Given the description of an element on the screen output the (x, y) to click on. 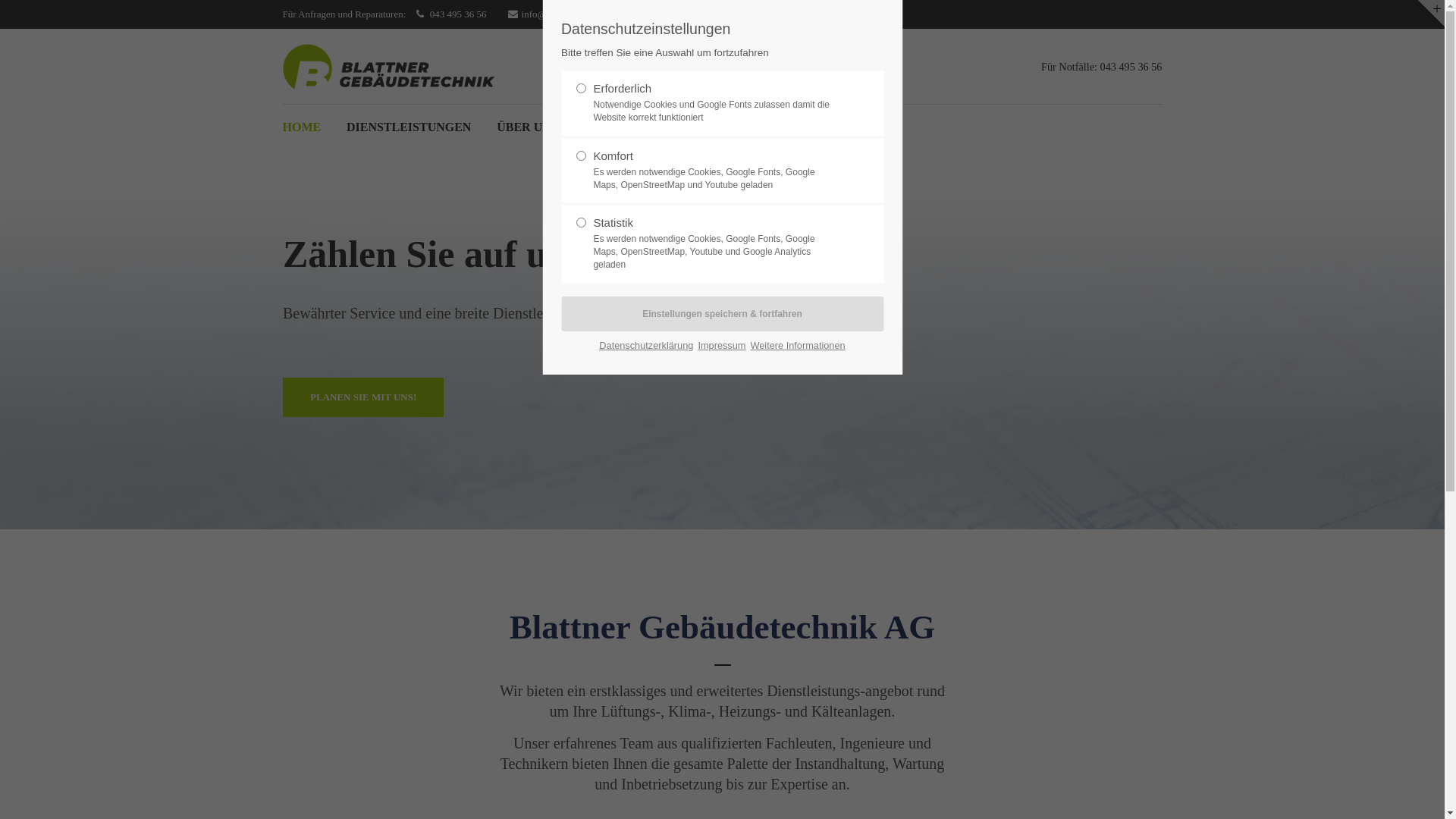
Impressum Element type: text (721, 345)
PLANEN SIE MIT UNS! Element type: text (362, 397)
KONTAKT Element type: text (613, 127)
Weitere Informationen Element type: text (796, 345)
HOME Element type: text (301, 127)
info@blattner-service.ch Element type: text (561, 14)
DIENSTLEISTUNGEN Element type: text (408, 127)
Einstellungen speichern & fortfahren Element type: text (722, 313)
